Given the description of an element on the screen output the (x, y) to click on. 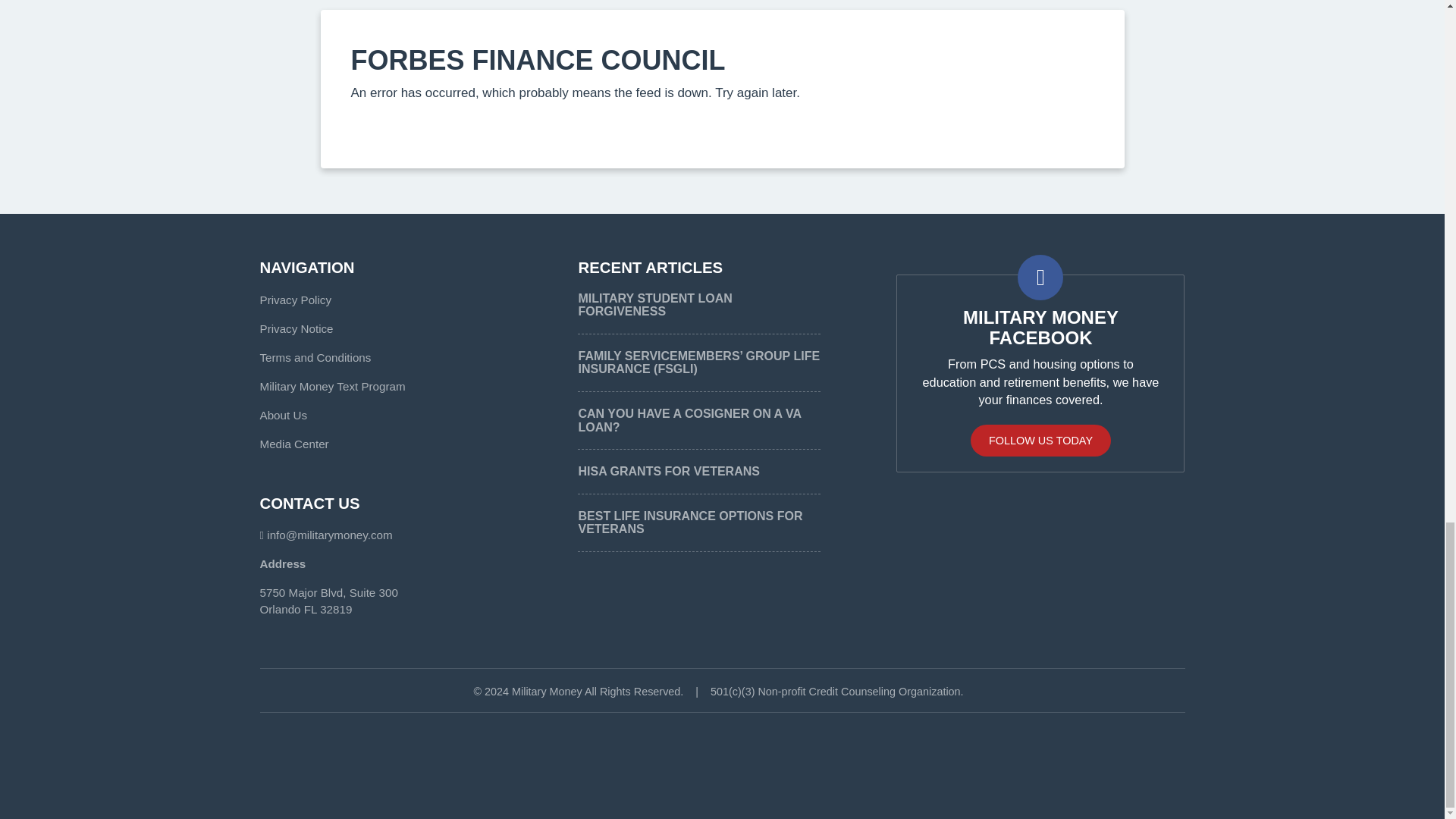
HISA Grants for Veterans (668, 471)
Military Student Loan Forgiveness (655, 304)
FORBES FINANCE COUNCIL (537, 60)
FOLLOW US TODAY (1040, 440)
Privacy Policy (295, 299)
Media Center (294, 443)
MILITARY STUDENT LOAN FORGIVENESS (655, 304)
Best Life Insurance Options for Veterans (690, 522)
About Us (282, 414)
Military Money Text Program (331, 386)
Privacy Notice (296, 328)
BEST LIFE INSURANCE OPTIONS FOR VETERANS (690, 522)
HISA GRANTS FOR VETERANS (668, 471)
Terms and Conditions (315, 357)
Can You Have a Cosigner on a VA Loan? (689, 420)
